Given the description of an element on the screen output the (x, y) to click on. 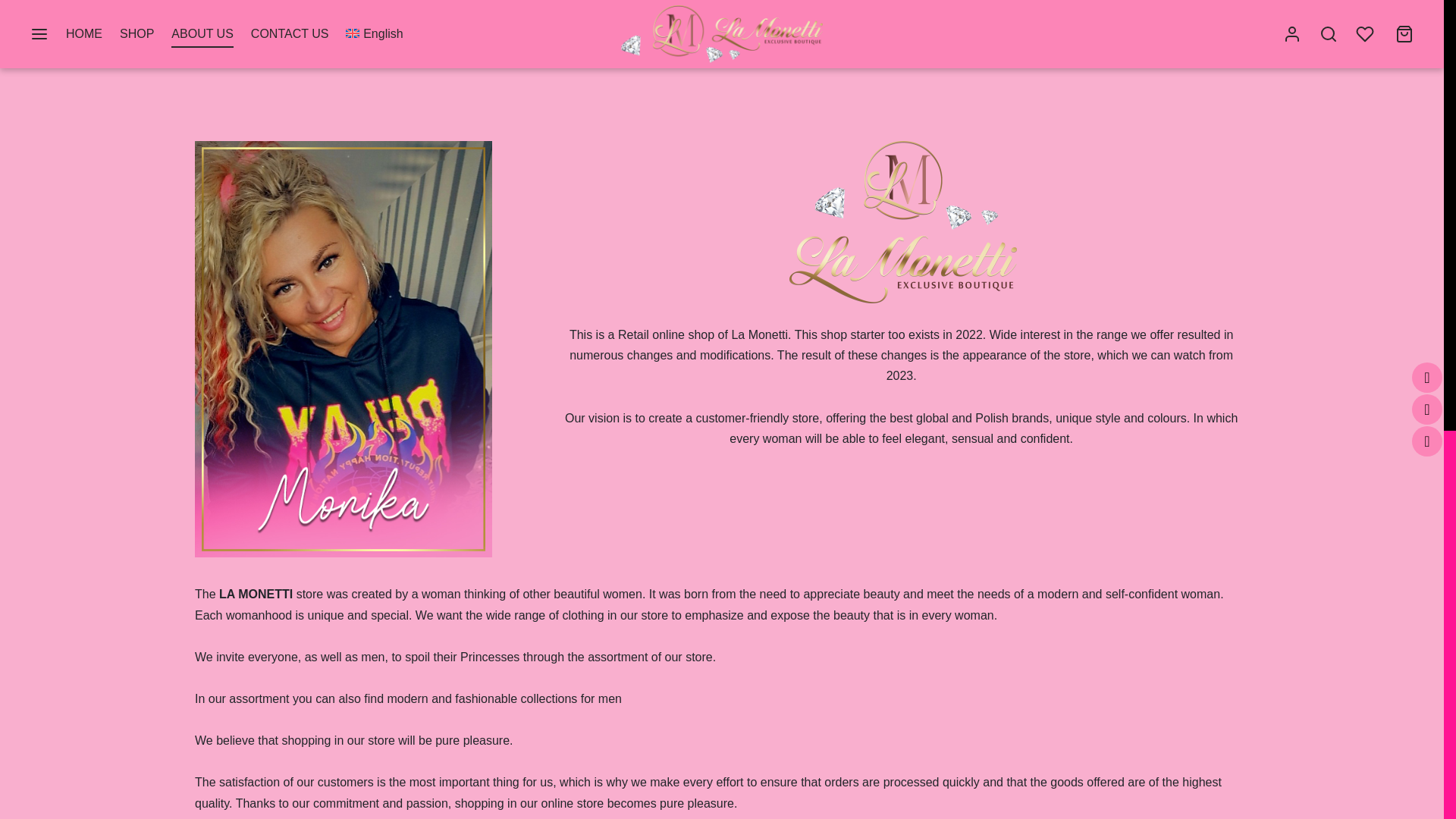
Cart (1403, 34)
English (374, 34)
ABOUT US (201, 34)
HOME (83, 34)
English (374, 34)
SHOP (136, 34)
CONTACT US (289, 34)
